Given the description of an element on the screen output the (x, y) to click on. 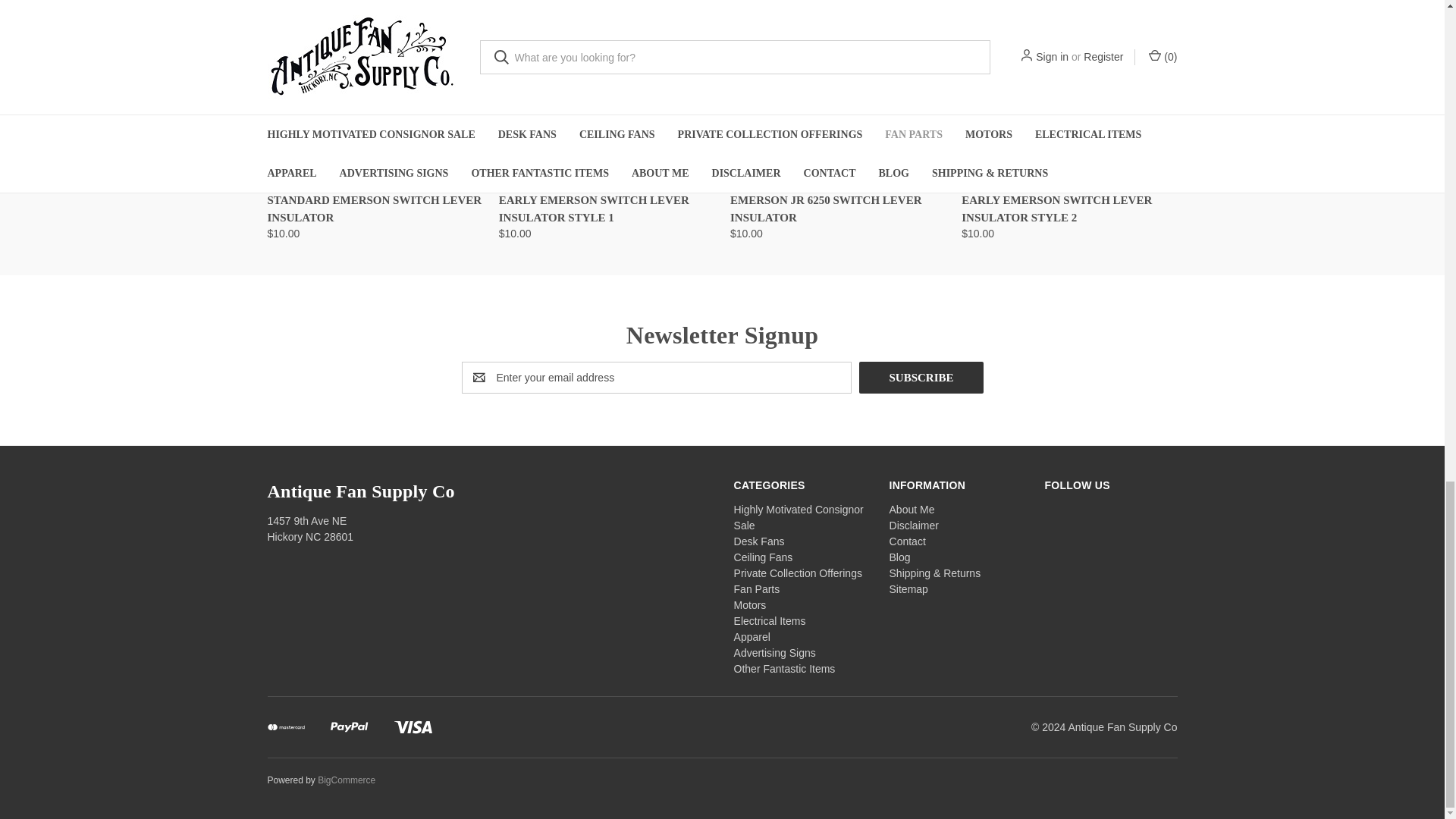
Standard Emerson Switch Lever Insulator  (374, 81)
Early Emerson Switch Lever Insulator Style 2 (1068, 77)
Emerson Jr  6250 Switch Lever Insulator  (837, 75)
Early Emerson Switch Lever Insulator Style 1 (606, 80)
Subscribe (920, 377)
